Given the description of an element on the screen output the (x, y) to click on. 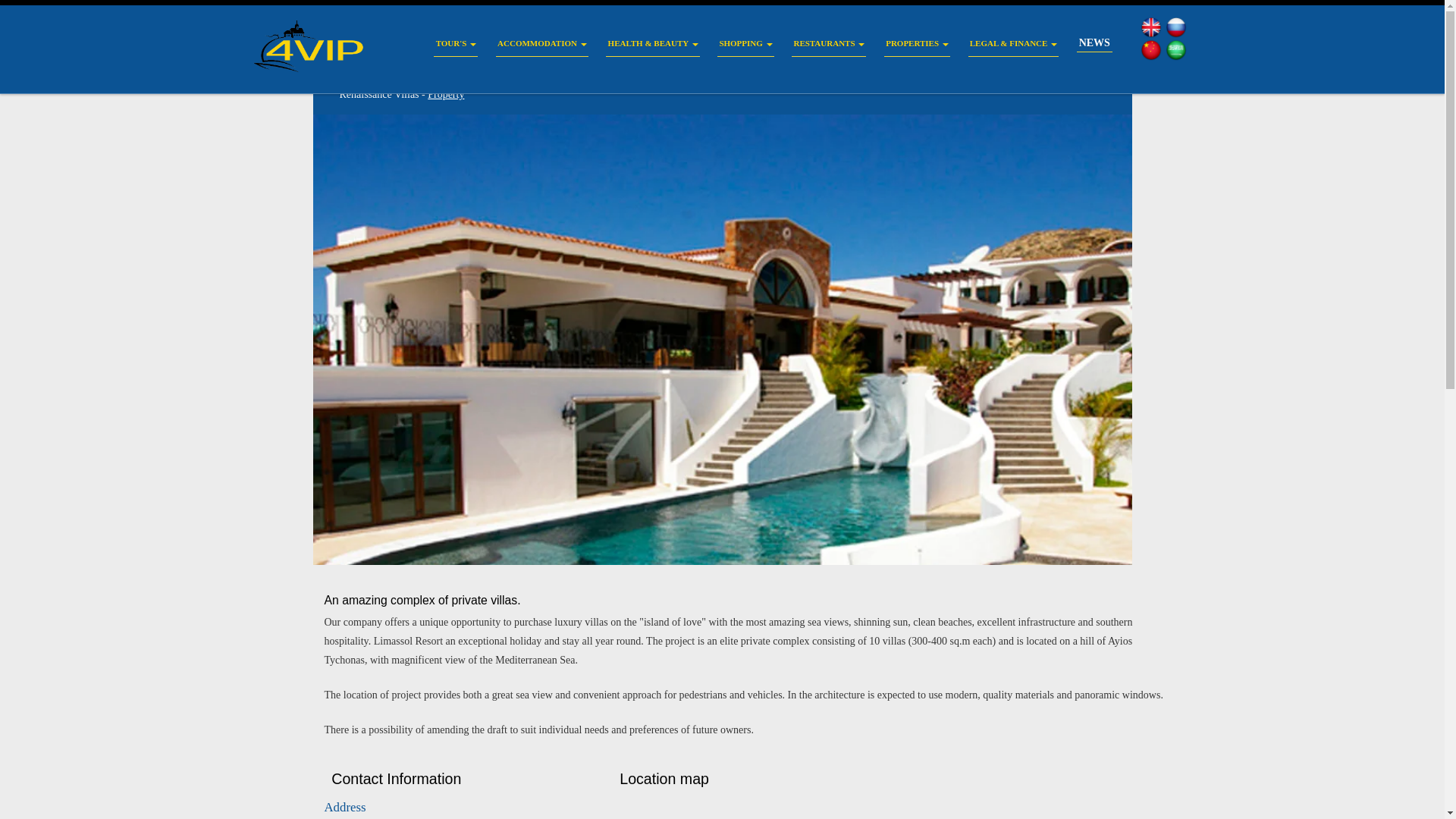
SHOPPING (745, 43)
RESTAURANTS (829, 43)
4vip (320, 45)
PROPERTIES (916, 43)
TOUR'S (455, 43)
ACCOMMODATION (542, 43)
